Given the description of an element on the screen output the (x, y) to click on. 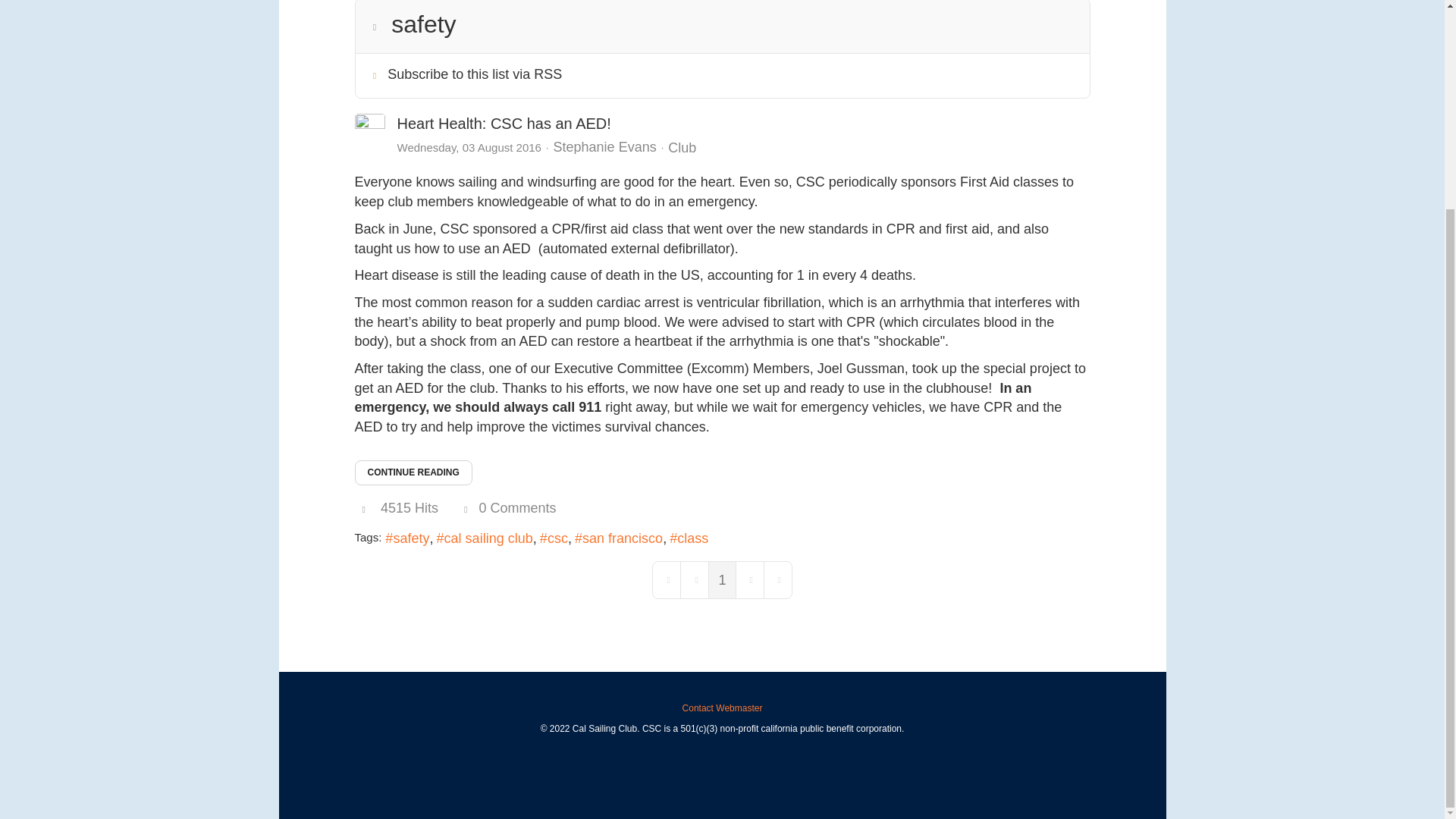
Subscribe to this list via RSS (474, 73)
